Given the description of an element on the screen output the (x, y) to click on. 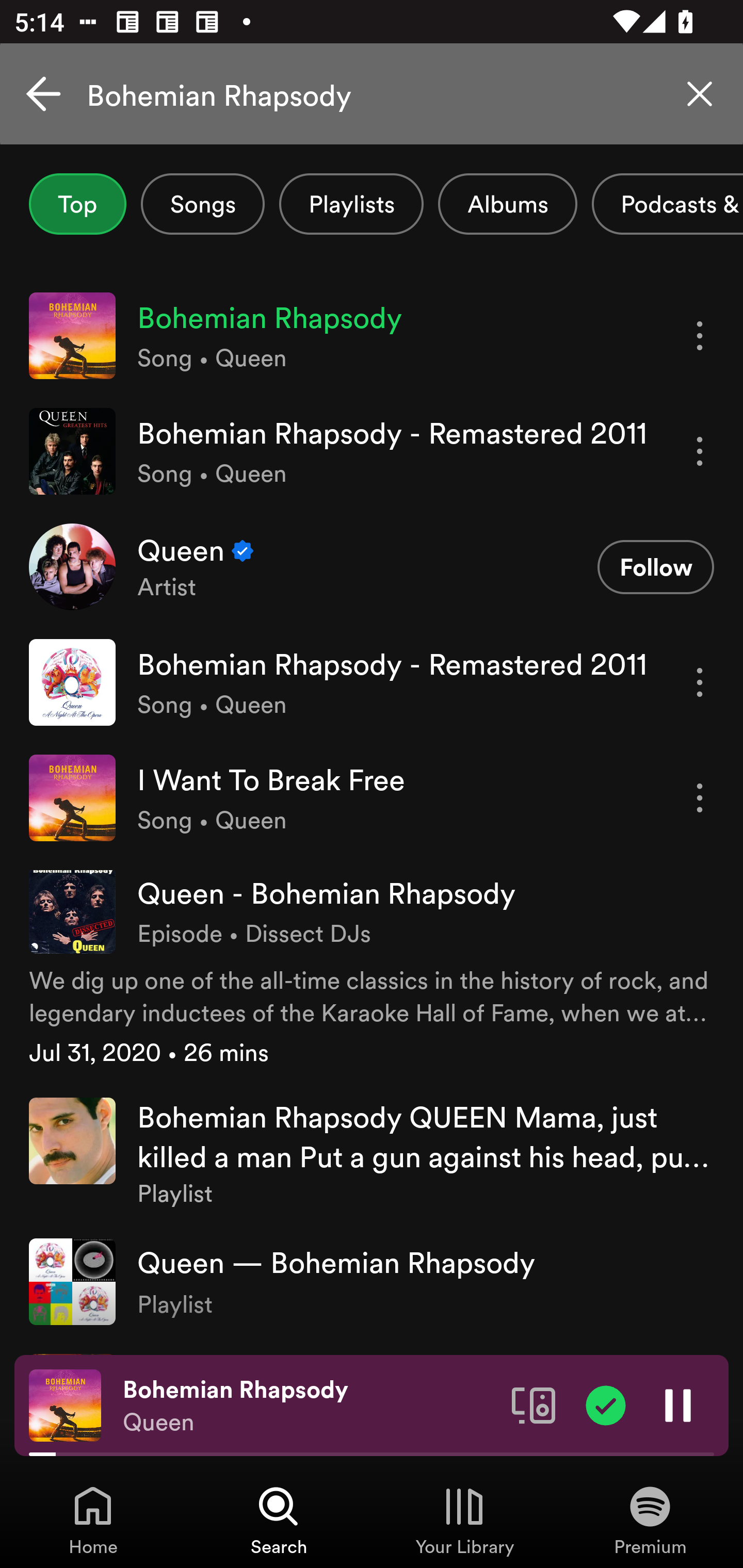
Bohemian Rhapsody (371, 93)
Cancel (43, 93)
Clear search query (699, 93)
Top (77, 203)
Songs (202, 203)
Playlists (351, 203)
Albums (507, 203)
Podcasts & Shows (667, 203)
More options for song Bohemian Rhapsody (699, 336)
Queen Verified Artist Follow Follow (371, 566)
Follow (655, 566)
More options for song I Want To Break Free (699, 798)
Queen — Bohemian Rhapsody Playlist (371, 1281)
Bohemian Rhapsody Queen (309, 1405)
The cover art of the currently playing track (64, 1404)
Connect to a device. Opens the devices menu (533, 1404)
Item added (605, 1404)
Pause (677, 1404)
Home, Tab 1 of 4 Home Home (92, 1519)
Search, Tab 2 of 4 Search Search (278, 1519)
Your Library, Tab 3 of 4 Your Library Your Library (464, 1519)
Premium, Tab 4 of 4 Premium Premium (650, 1519)
